Given the description of an element on the screen output the (x, y) to click on. 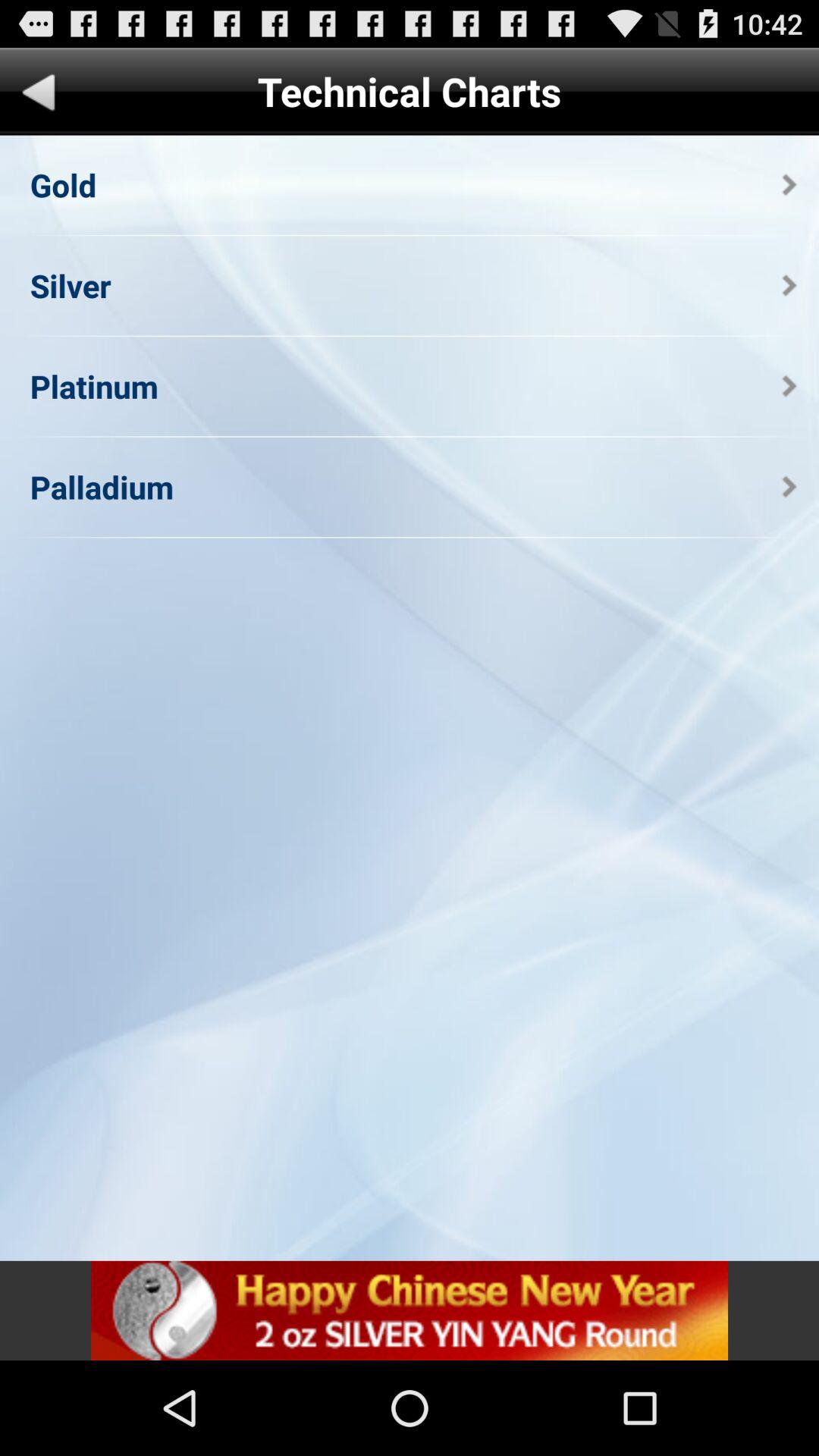
open icon on the left (101, 486)
